Given the description of an element on the screen output the (x, y) to click on. 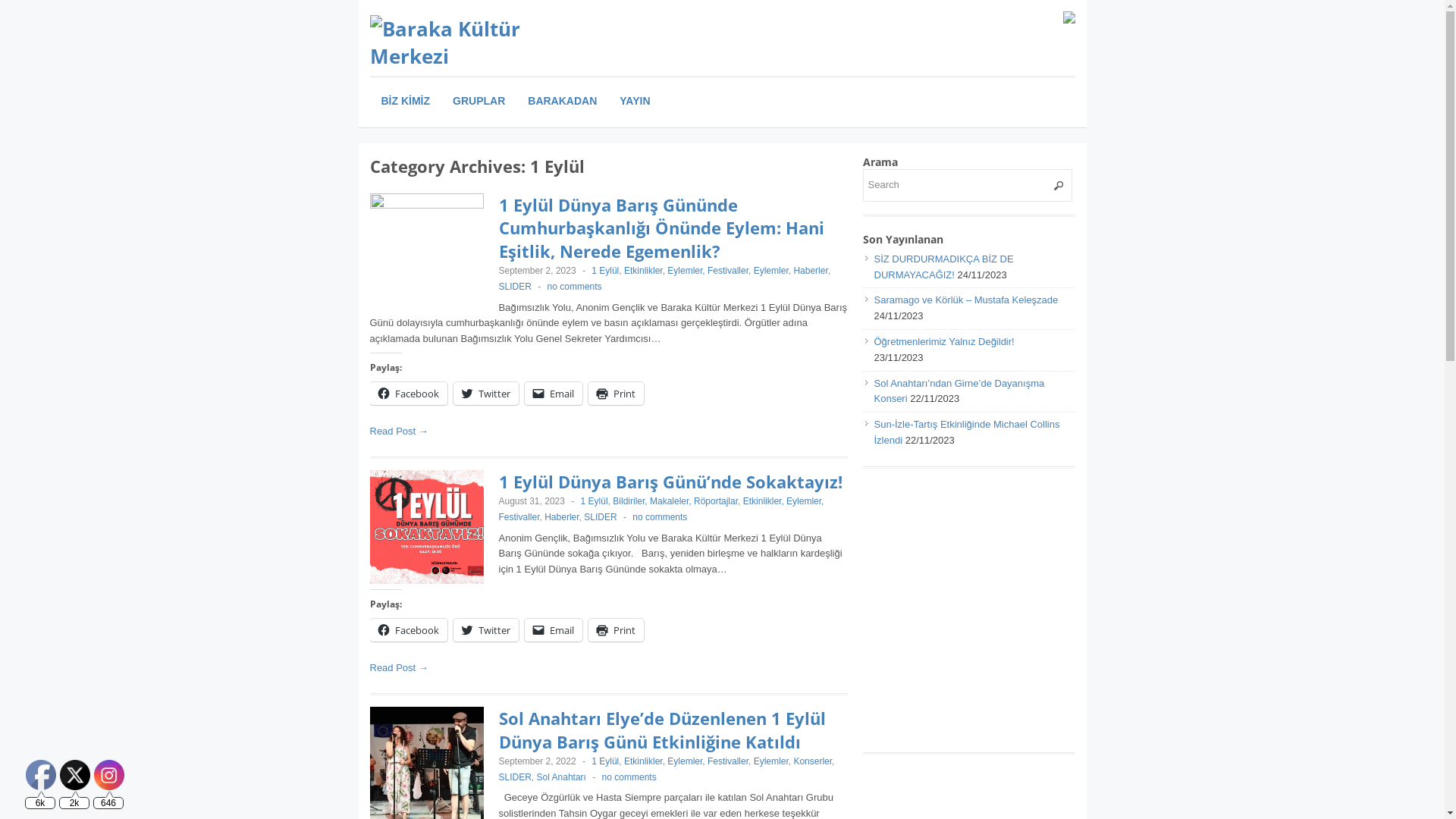
Etkinlikler, Eylemler, Festivaller Element type: text (686, 270)
Twitter Element type: text (485, 393)
Eylemler Element type: text (770, 270)
Facebook Element type: hover (40, 774)
Facebook Element type: text (408, 393)
no comments Element type: text (659, 516)
Email Element type: text (553, 393)
Haberler Element type: text (810, 270)
Print Element type: text (615, 393)
Twitter Element type: text (485, 629)
GRUPLAR Element type: text (478, 100)
Print Element type: text (615, 629)
BARAKADAN Element type: text (562, 100)
Konserler Element type: text (812, 761)
Haberler Element type: text (561, 516)
Facebook Element type: text (408, 629)
SLIDER Element type: text (514, 286)
no comments Element type: text (574, 286)
Email Element type: text (553, 629)
no comments Element type: text (629, 776)
Twitter Element type: hover (74, 774)
Etkinlikler, Eylemler, Festivaller Element type: text (686, 761)
SLIDER Element type: text (514, 776)
YAYIN Element type: text (634, 100)
Etkinlikler, Eylemler, Festivaller Element type: text (661, 508)
SLIDER Element type: text (599, 516)
Eylemler Element type: text (770, 761)
